Given the description of an element on the screen output the (x, y) to click on. 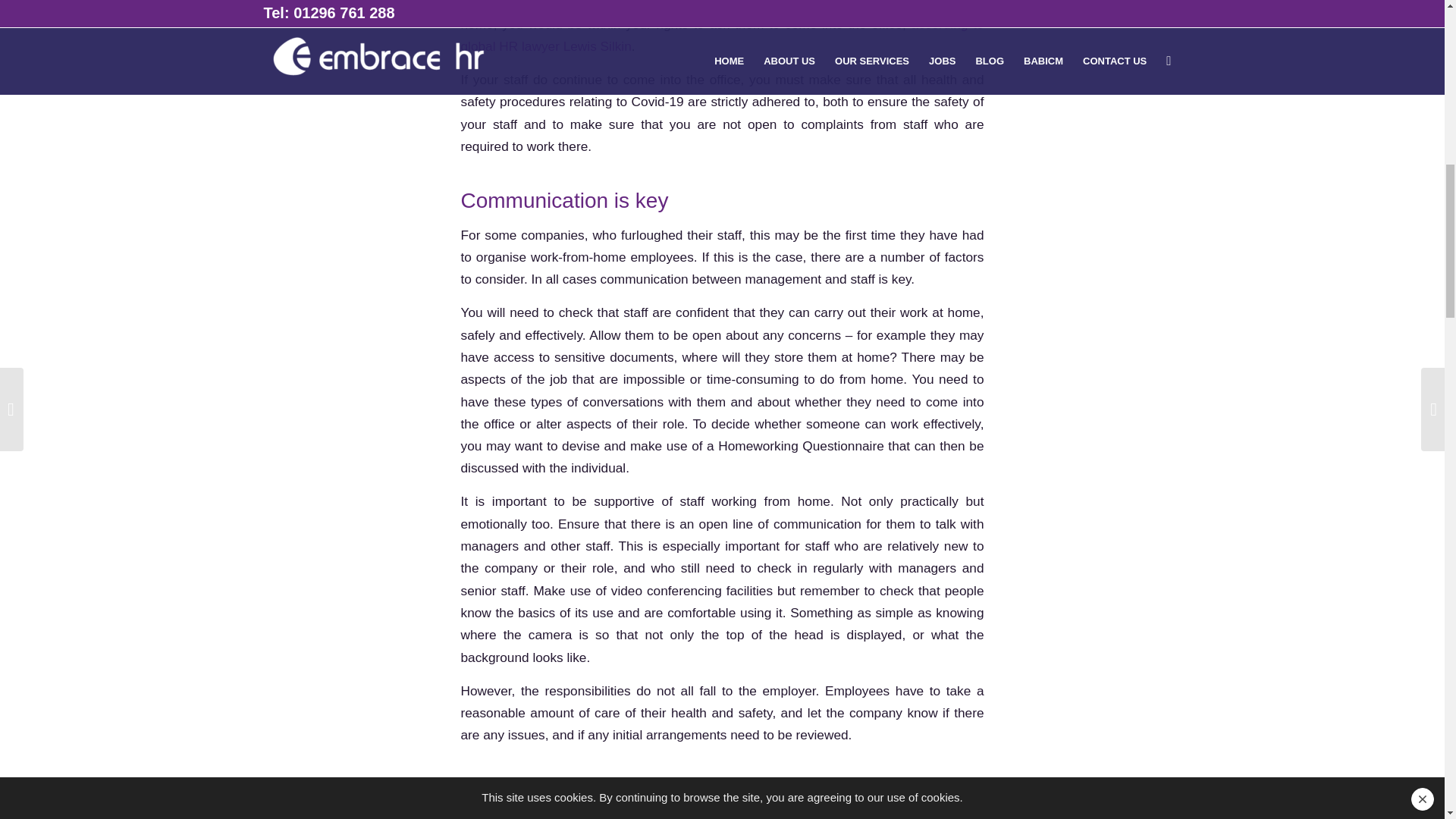
according to global HR lawyer Lewis Silkin (722, 35)
